Given the description of an element on the screen output the (x, y) to click on. 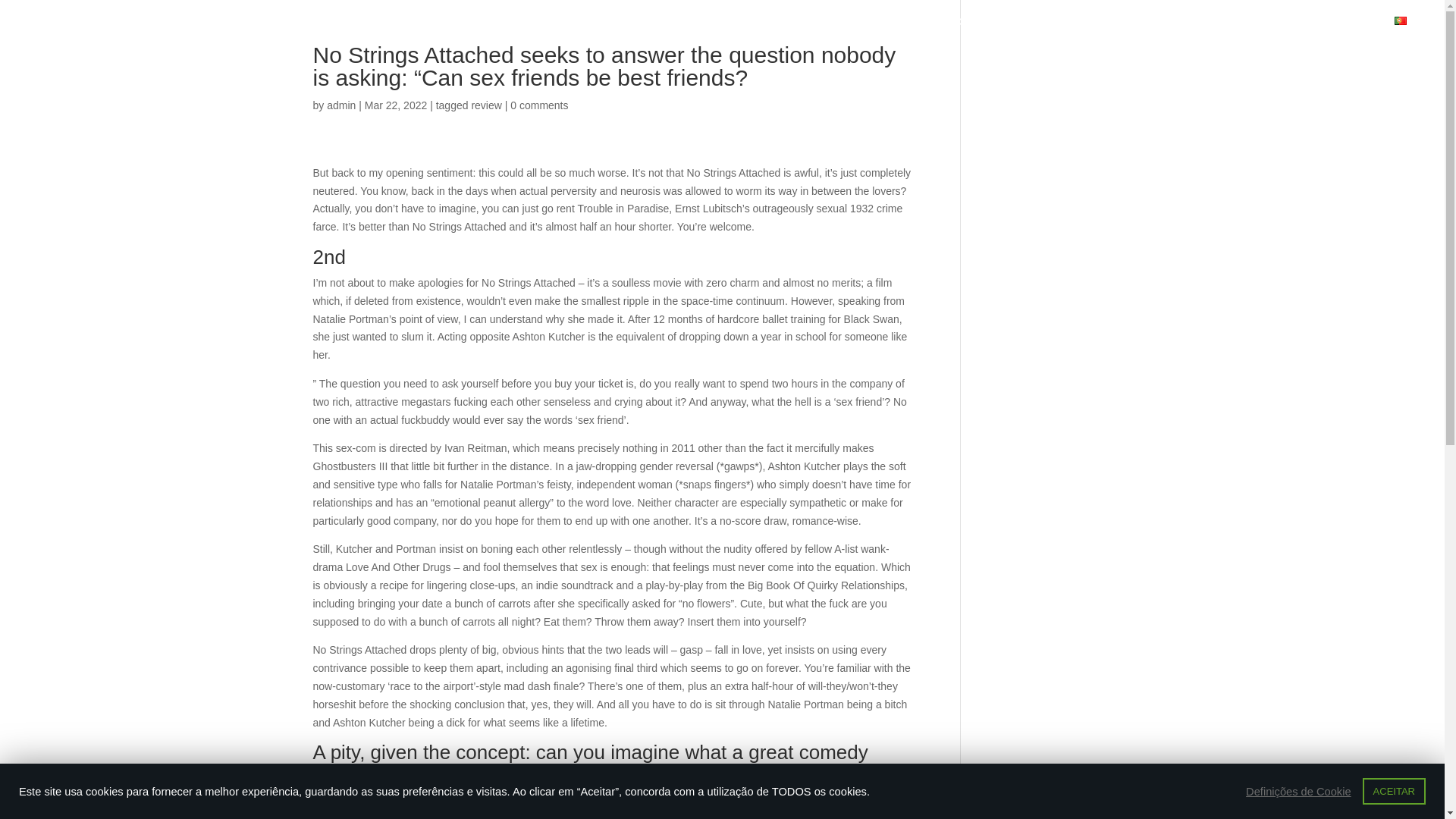
ACEITAR (1393, 791)
tagged review (468, 105)
Venda de Componentes (886, 30)
Quem Somos (787, 30)
0 comments (539, 105)
Motorsport (1301, 30)
admin (340, 105)
Contacto (1360, 30)
Posts by admin (340, 105)
